Given the description of an element on the screen output the (x, y) to click on. 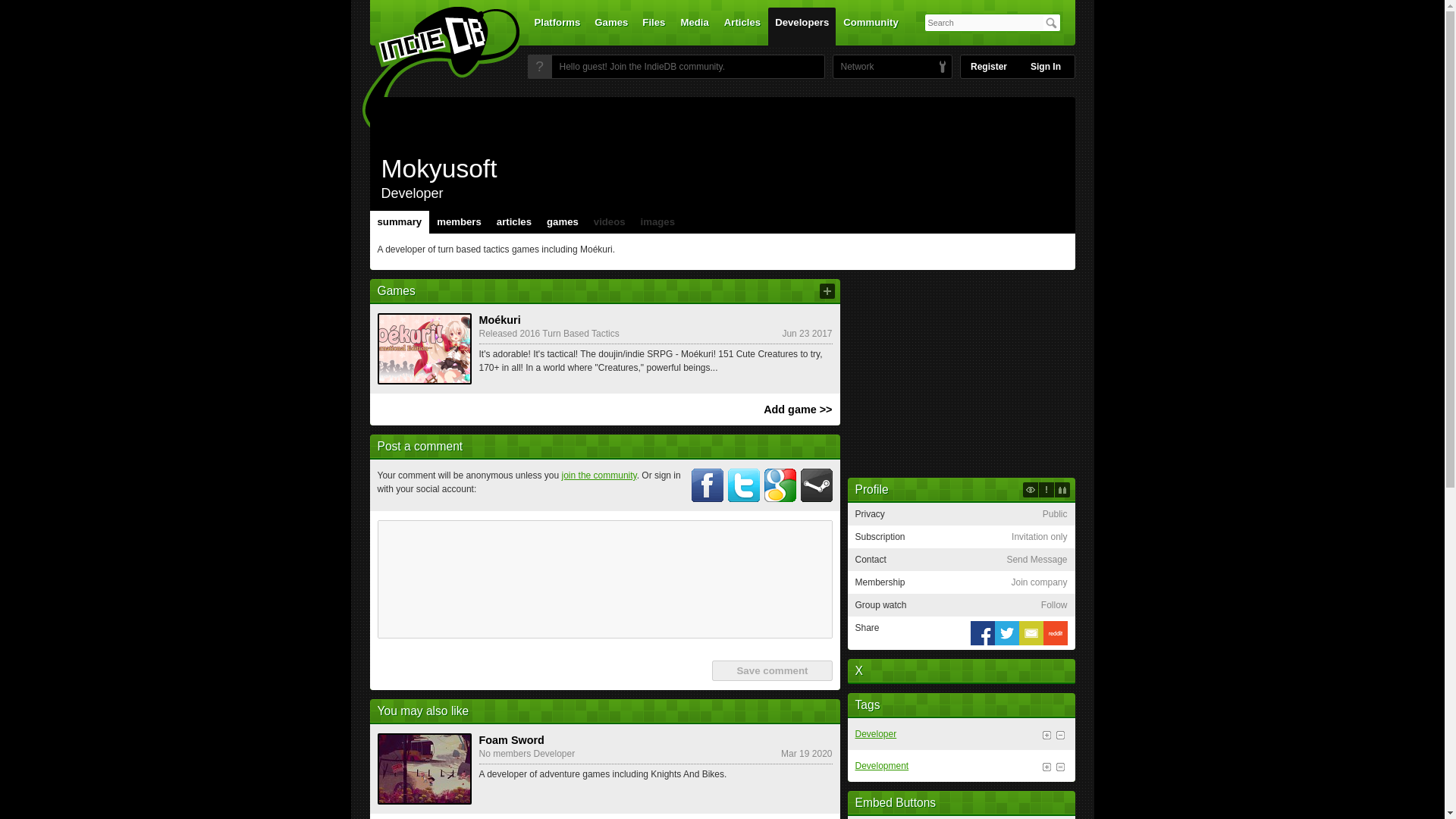
Games (611, 26)
Platforms (557, 26)
Search (1050, 22)
Join IndieDB (539, 66)
Files (652, 26)
Home (430, 70)
DBolical (852, 66)
Search IndieDB (1050, 22)
Community (870, 26)
Media (694, 26)
